Given the description of an element on the screen output the (x, y) to click on. 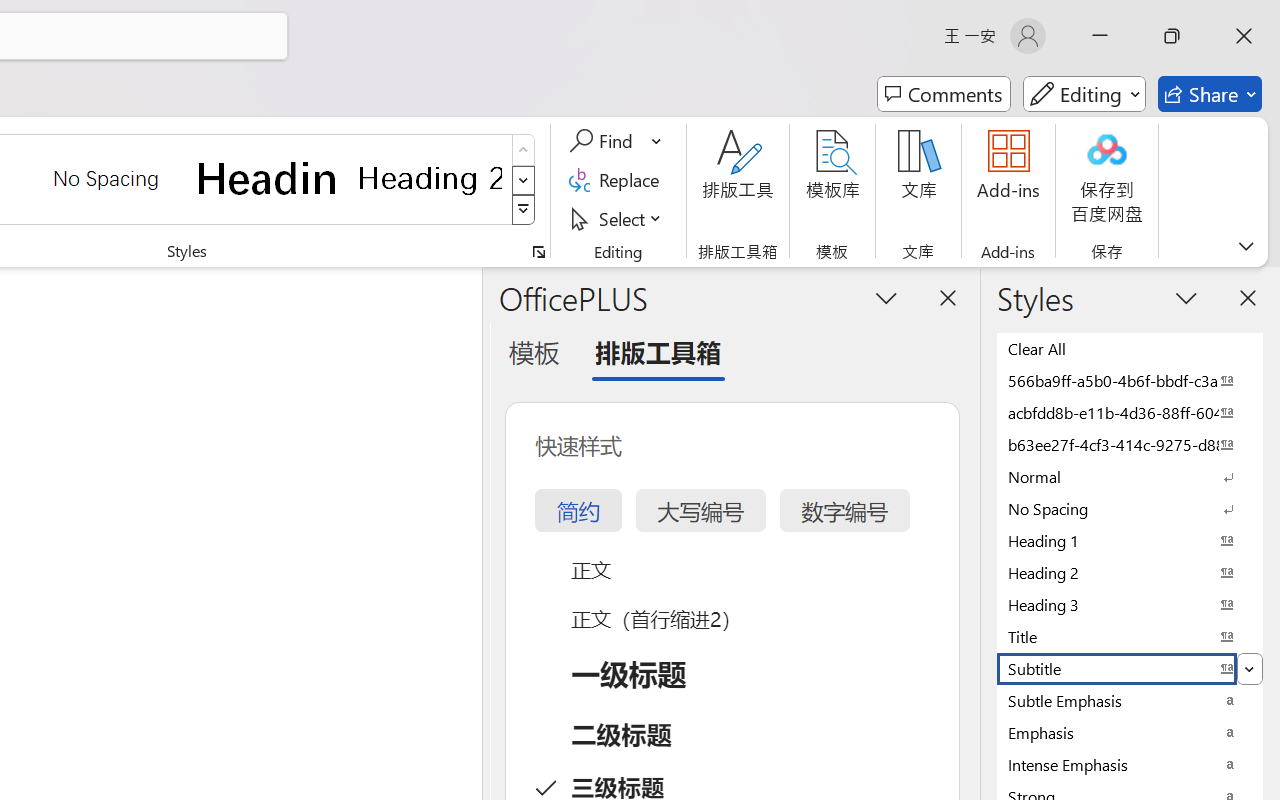
No Spacing (1130, 508)
b63ee27f-4cf3-414c-9275-d88e3f90795e (1130, 444)
Title (1130, 636)
Share (1210, 94)
Close (1244, 36)
566ba9ff-a5b0-4b6f-bbdf-c3ab41993fc2 (1130, 380)
Minimize (1099, 36)
Replace... (617, 179)
Row up (523, 150)
Intense Emphasis (1130, 764)
Styles (523, 209)
Heading 3 (1130, 604)
